Given the description of an element on the screen output the (x, y) to click on. 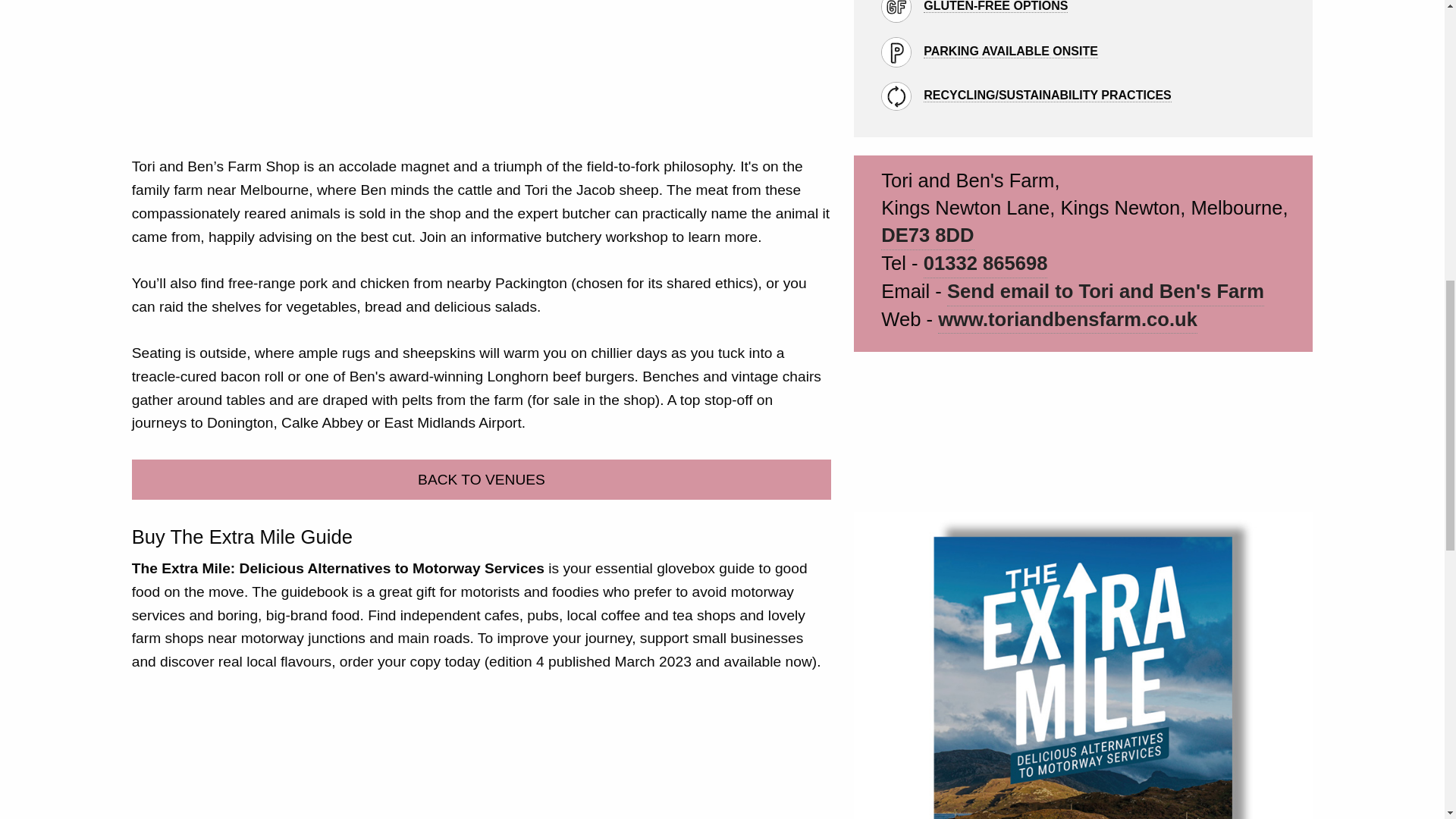
BACK TO VENUES (481, 479)
Return to venue list (481, 479)
01332 865698 (985, 264)
www.toriandbensfarm.co.uk (1066, 320)
Send email to Tori and Ben's Farm (1105, 292)
DE73 8DD (927, 235)
